Given the description of an element on the screen output the (x, y) to click on. 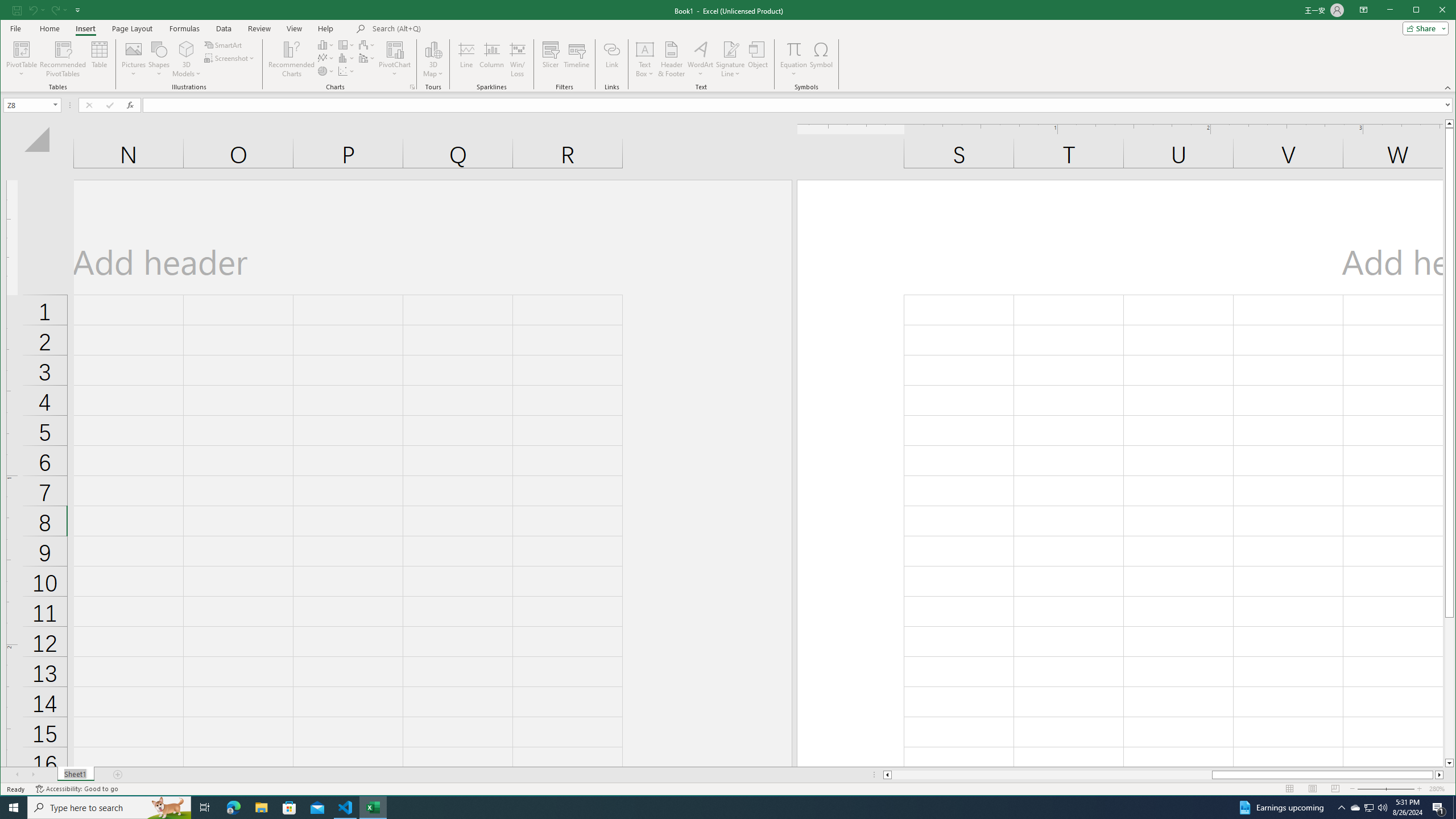
Equation (793, 59)
Insert Combo Chart (366, 57)
PivotChart (394, 59)
Object... (757, 59)
Microsoft Store (289, 807)
PivotTable (22, 59)
Recommended PivotTables (63, 59)
